Given the description of an element on the screen output the (x, y) to click on. 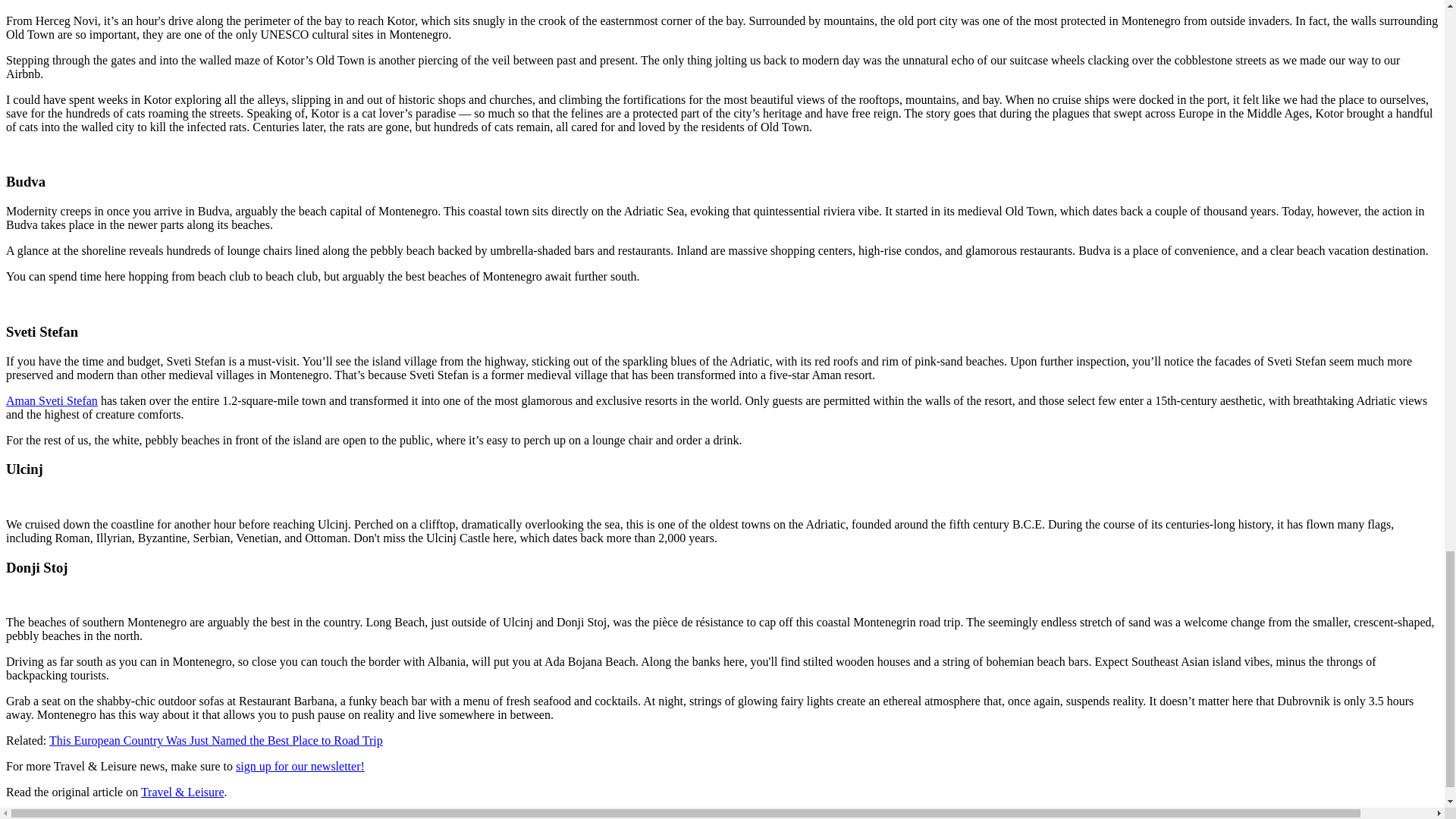
Aman Sveti Stefan (51, 400)
sign up for our newsletter! (300, 766)
